Given the description of an element on the screen output the (x, y) to click on. 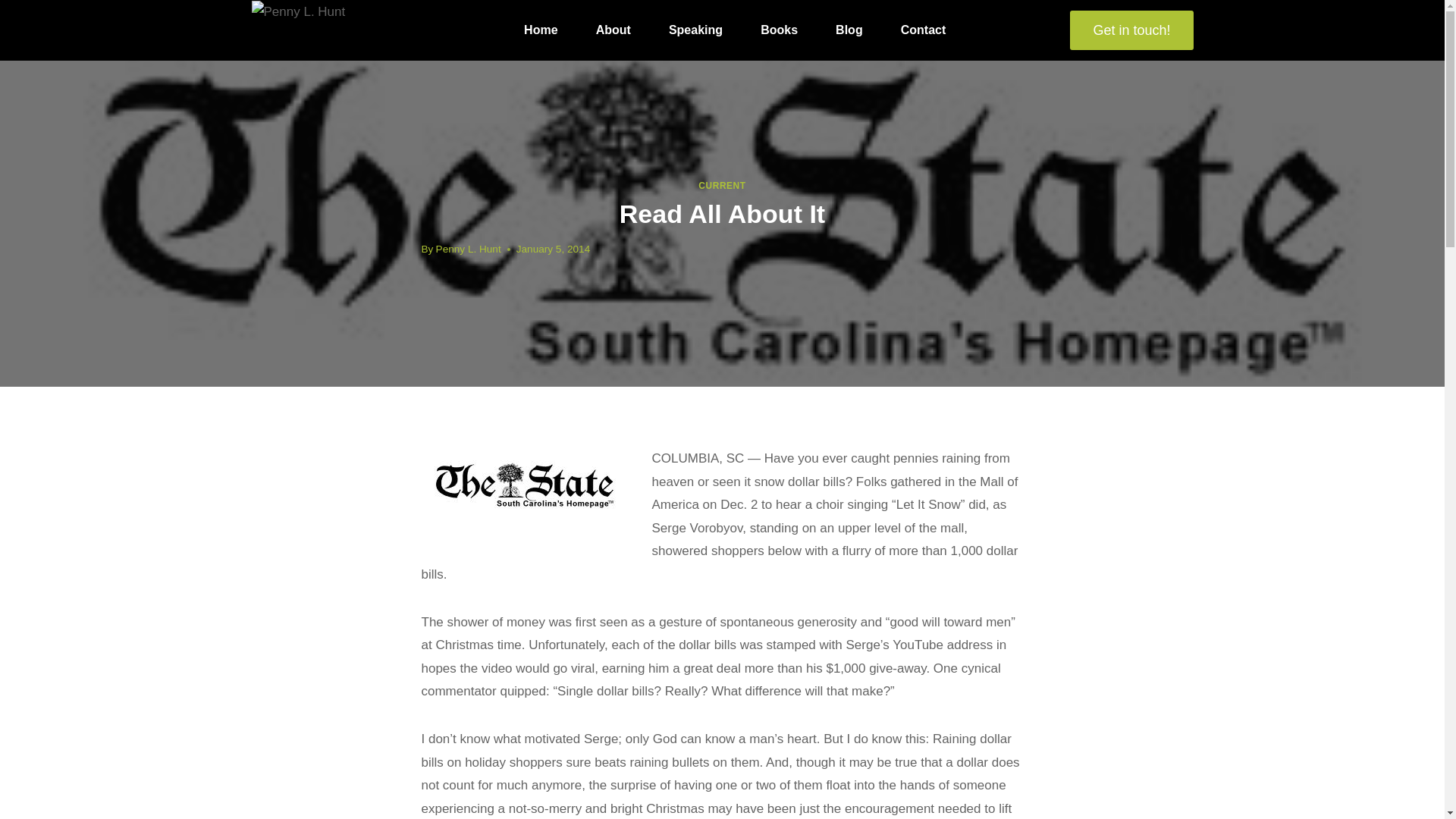
Blog (849, 29)
Speaking (695, 29)
About (612, 29)
Home (541, 29)
Books (779, 29)
CURRENT (721, 185)
Contact (923, 29)
Get in touch! (1131, 30)
Penny L. Hunt (467, 248)
